Given the description of an element on the screen output the (x, y) to click on. 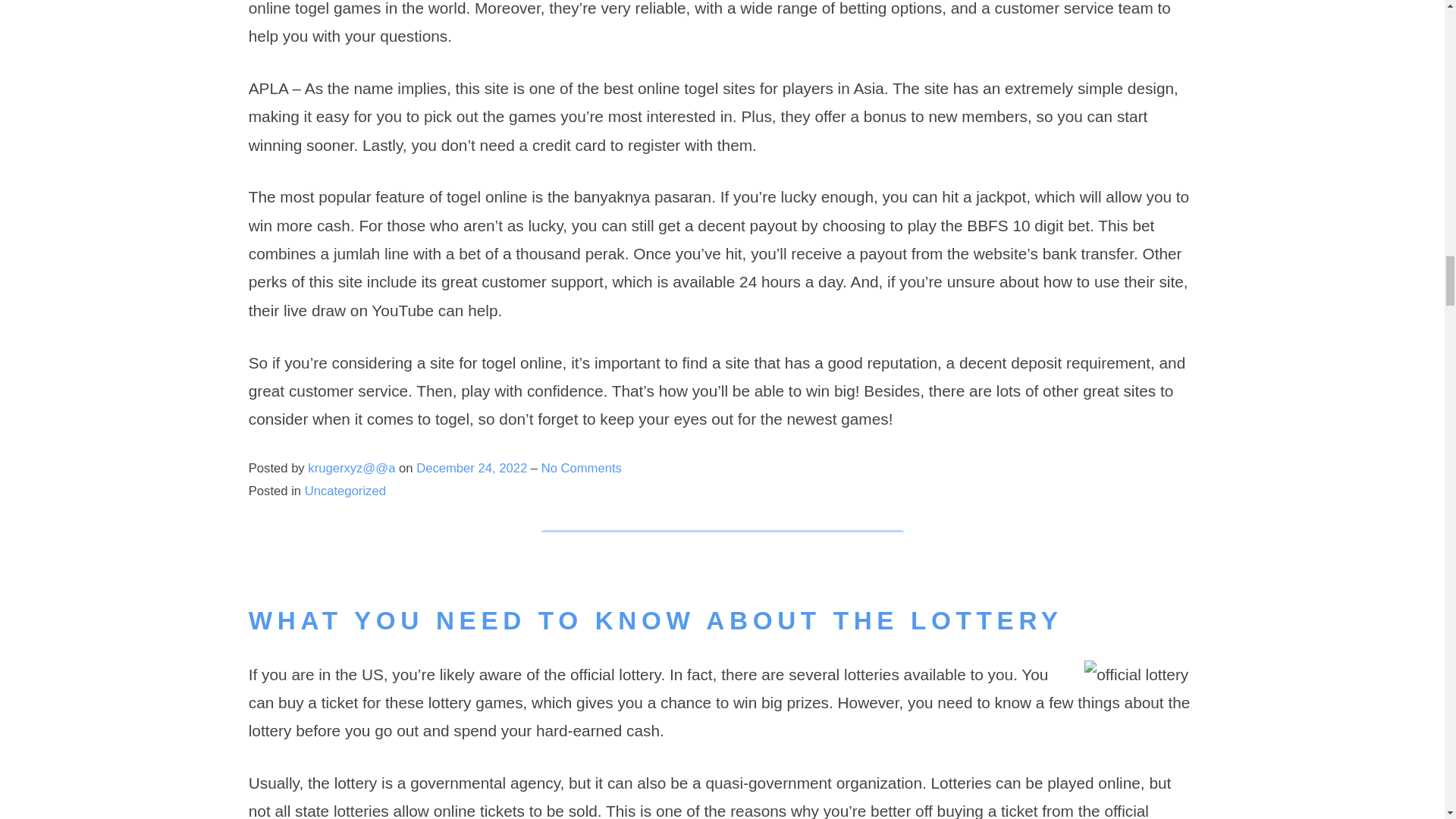
WHAT YOU NEED TO KNOW ABOUT THE LOTTERY (655, 620)
Uncategorized (344, 490)
No Comments (581, 468)
December 24, 2022 (473, 468)
